Given the description of an element on the screen output the (x, y) to click on. 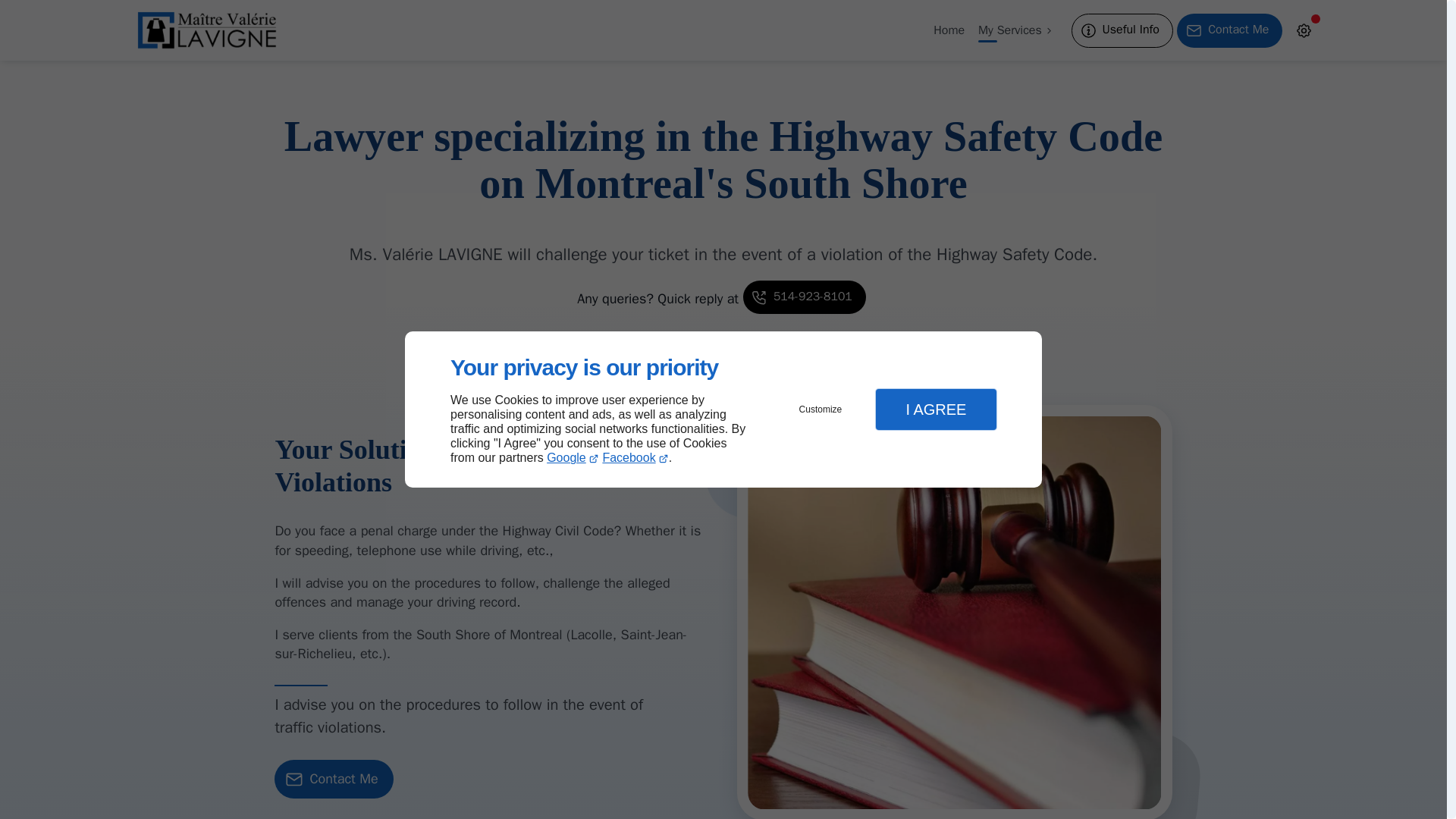
514-923-8101 (804, 296)
Facebook (635, 457)
Contact Me (1229, 30)
Home (948, 30)
Useful Info (1122, 30)
My Services (1016, 30)
Contact Me (334, 779)
Google (572, 457)
